Given the description of an element on the screen output the (x, y) to click on. 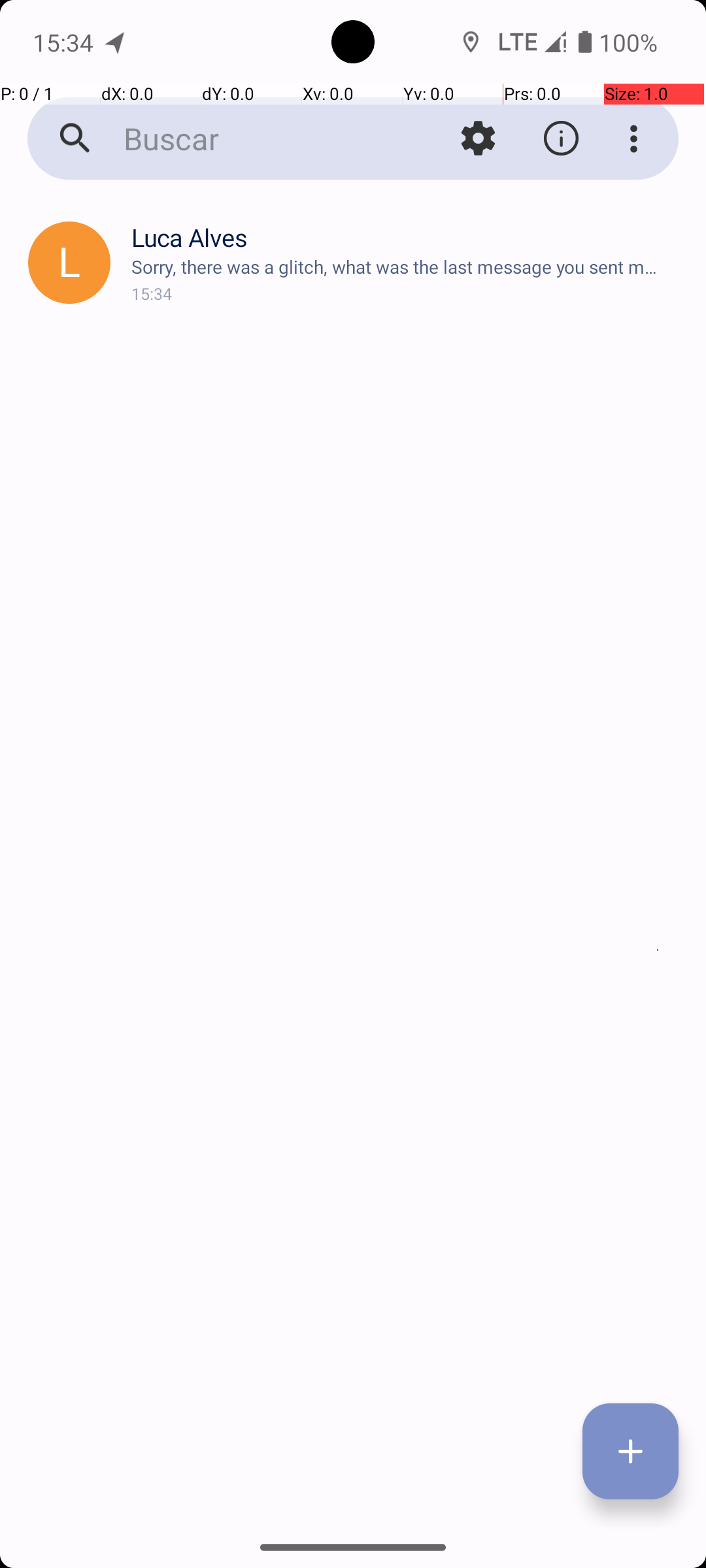
Acerca de Element type: android.widget.Button (560, 138)
Luca Alves Element type: android.widget.TextView (408, 237)
